Given the description of an element on the screen output the (x, y) to click on. 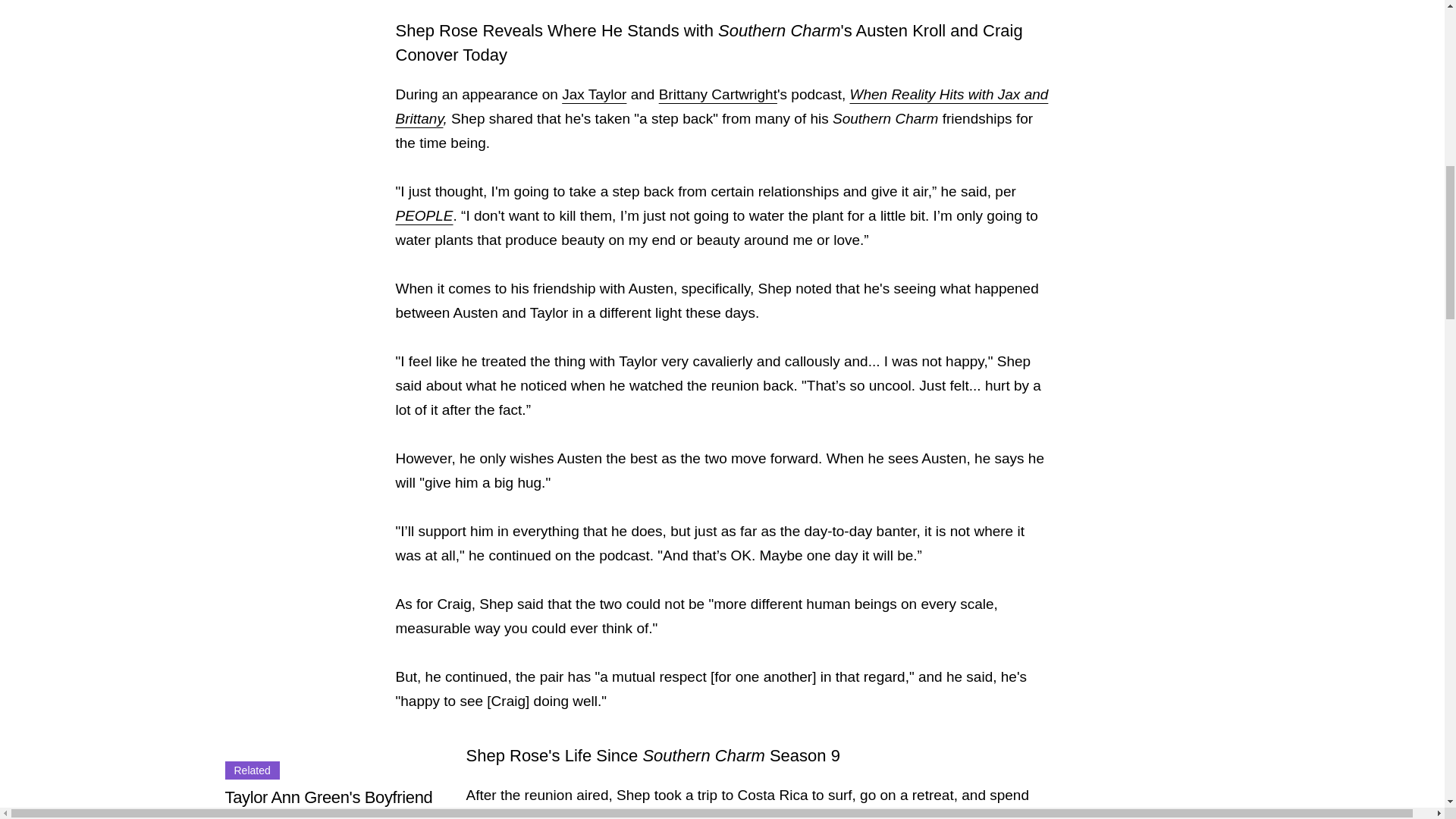
PEOPLE (424, 215)
When Reality Hits with Jax and Brittany (722, 106)
Jax Taylor (594, 94)
Brittany Cartwright (718, 94)
